Given the description of an element on the screen output the (x, y) to click on. 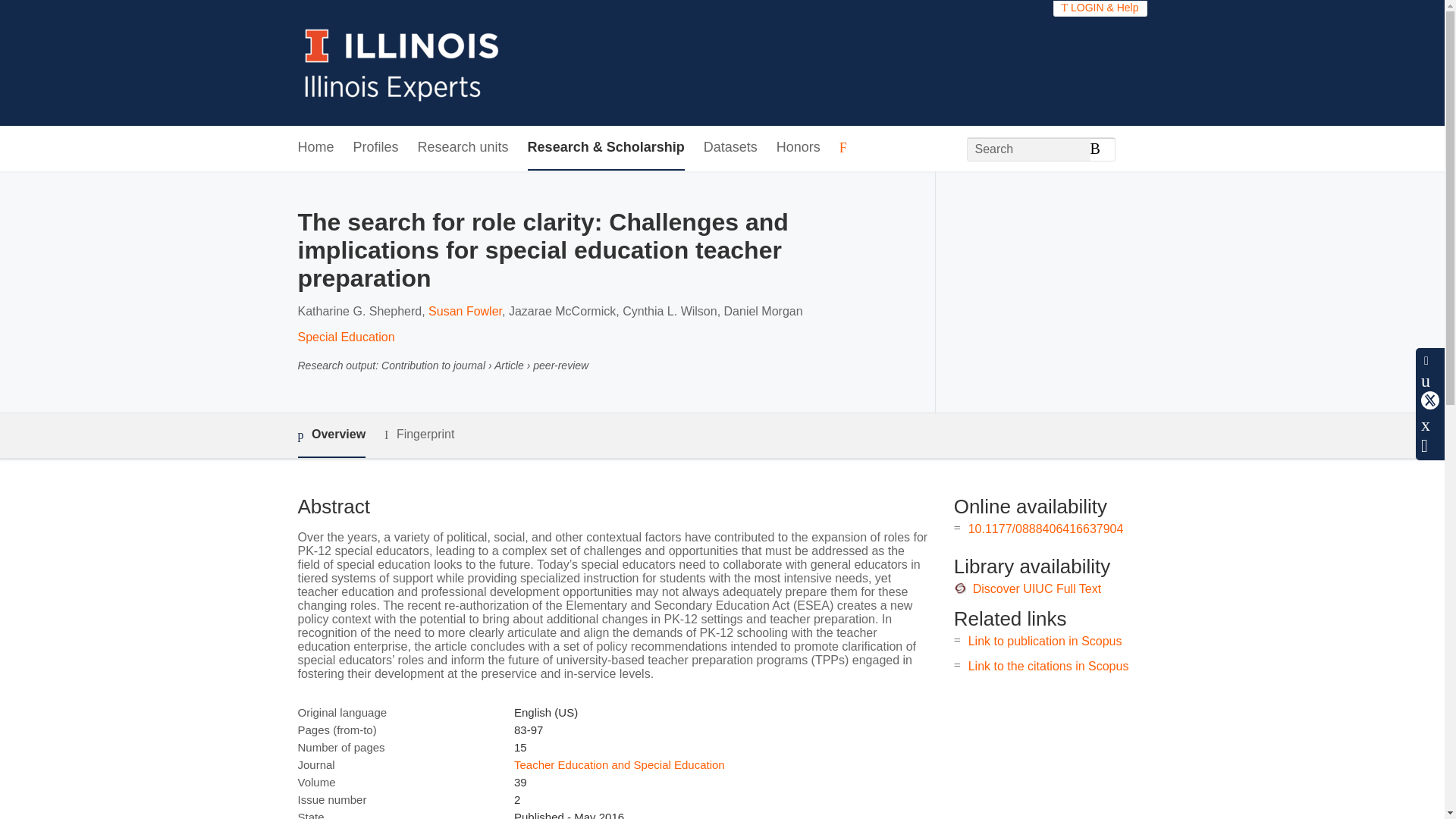
Discover UIUC Full Text (1037, 588)
Link to publication in Scopus (1045, 640)
Link to the citations in Scopus (1048, 666)
Overview (331, 435)
Research units (462, 148)
Teacher Education and Special Education (619, 764)
University of Illinois Urbana-Champaign Home (402, 62)
Honors (798, 148)
Special Education (345, 336)
